Given the description of an element on the screen output the (x, y) to click on. 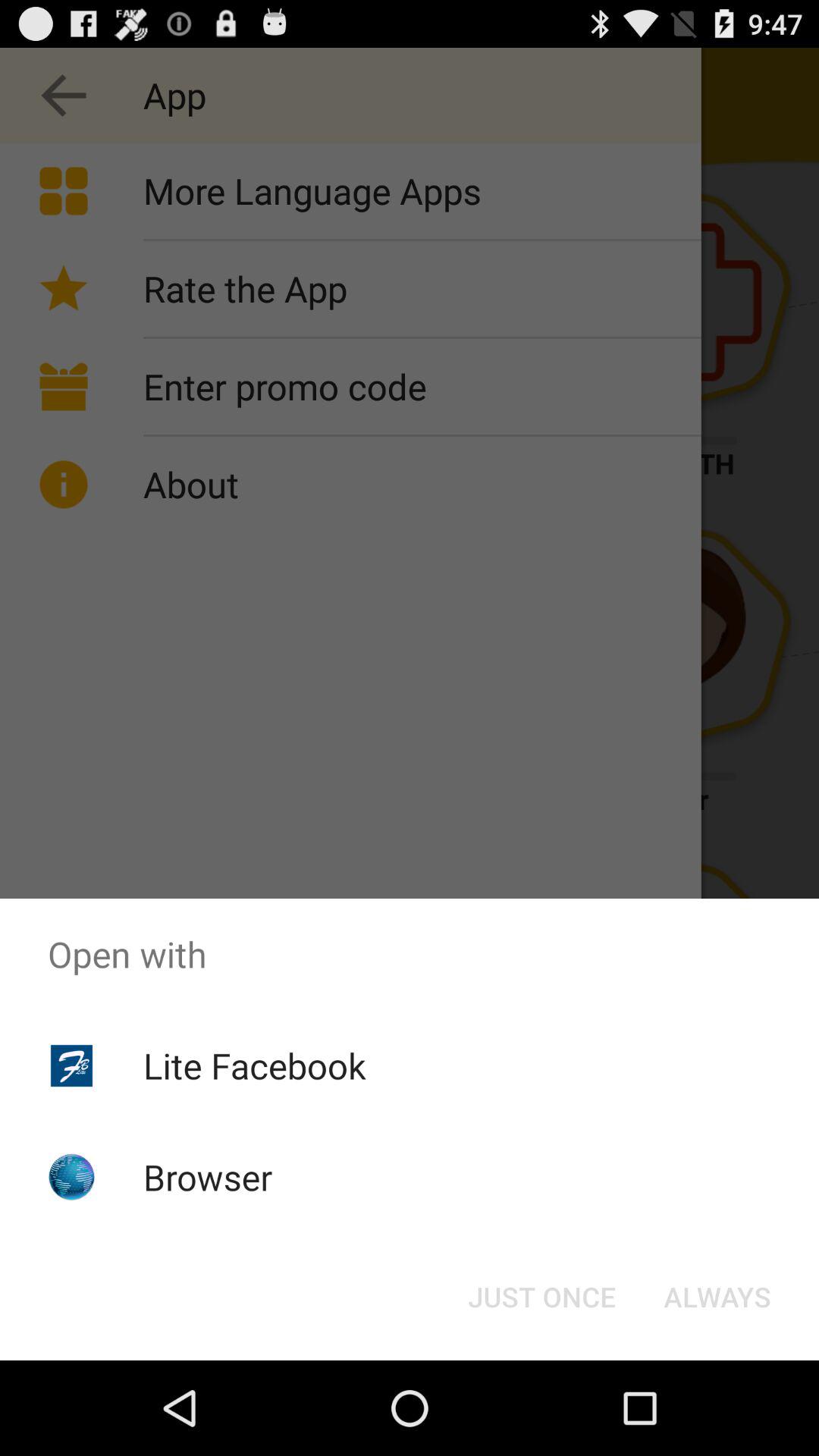
turn on the app below the open with item (717, 1296)
